Given the description of an element on the screen output the (x, y) to click on. 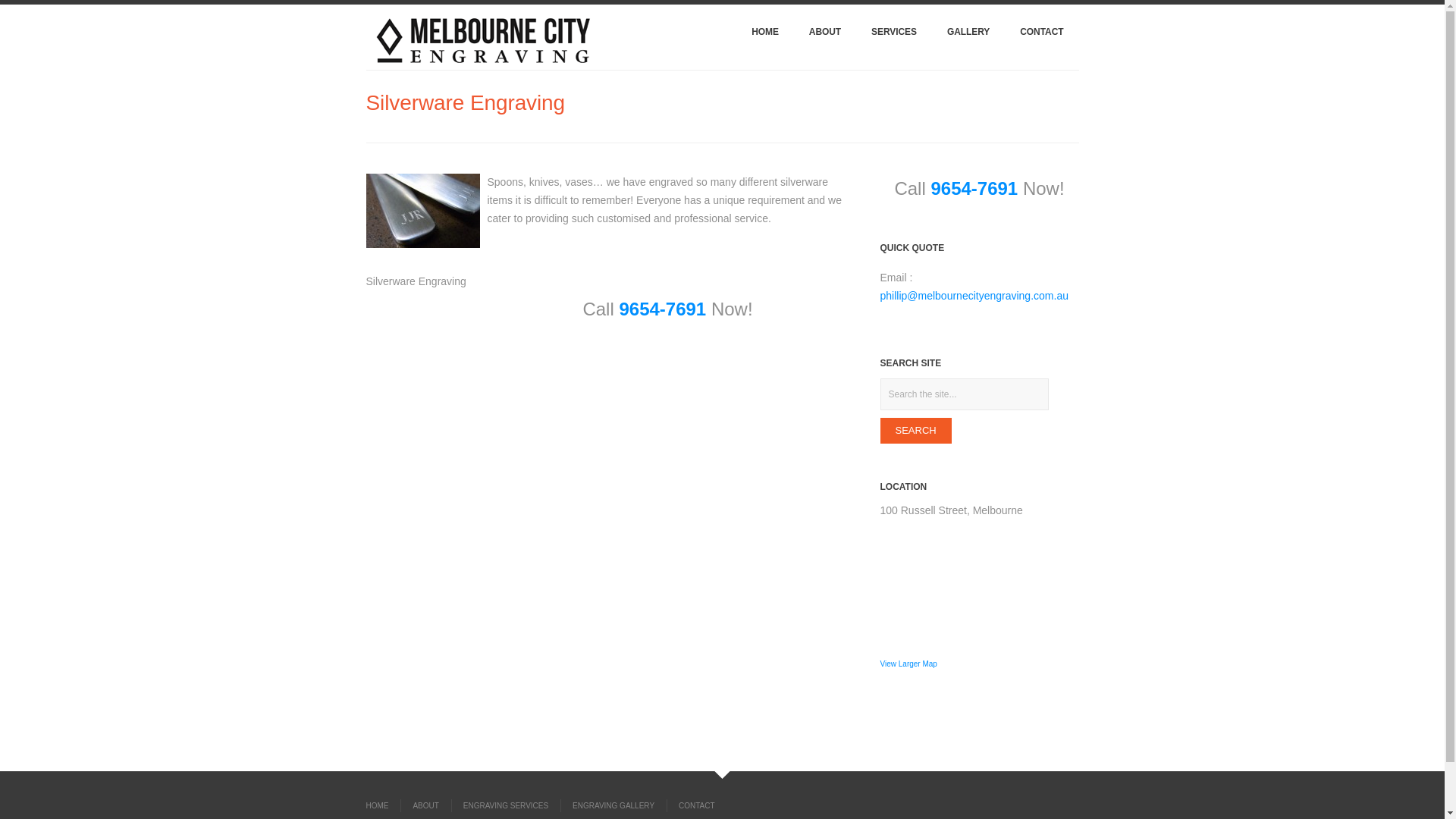
HOME Element type: text (764, 35)
ENGRAVING SERVICES Element type: text (505, 805)
9654-7691 Element type: text (973, 188)
SERVICES Element type: text (893, 35)
9654-7691 Element type: text (662, 308)
GALLERY Element type: text (967, 35)
CONTACT Element type: text (1041, 35)
ABOUT Element type: text (424, 805)
HOME Element type: text (382, 805)
phillip@melbournecityengraving.com.au Element type: text (973, 295)
Silverware Engraving Element type: hover (422, 210)
View Larger Map Element type: text (907, 663)
ENGRAVING GALLERY Element type: text (612, 805)
Melbourne City Engraving Element type: hover (483, 42)
CONTACT Element type: text (690, 805)
Search Element type: text (914, 430)
ABOUT Element type: text (824, 35)
